Given the description of an element on the screen output the (x, y) to click on. 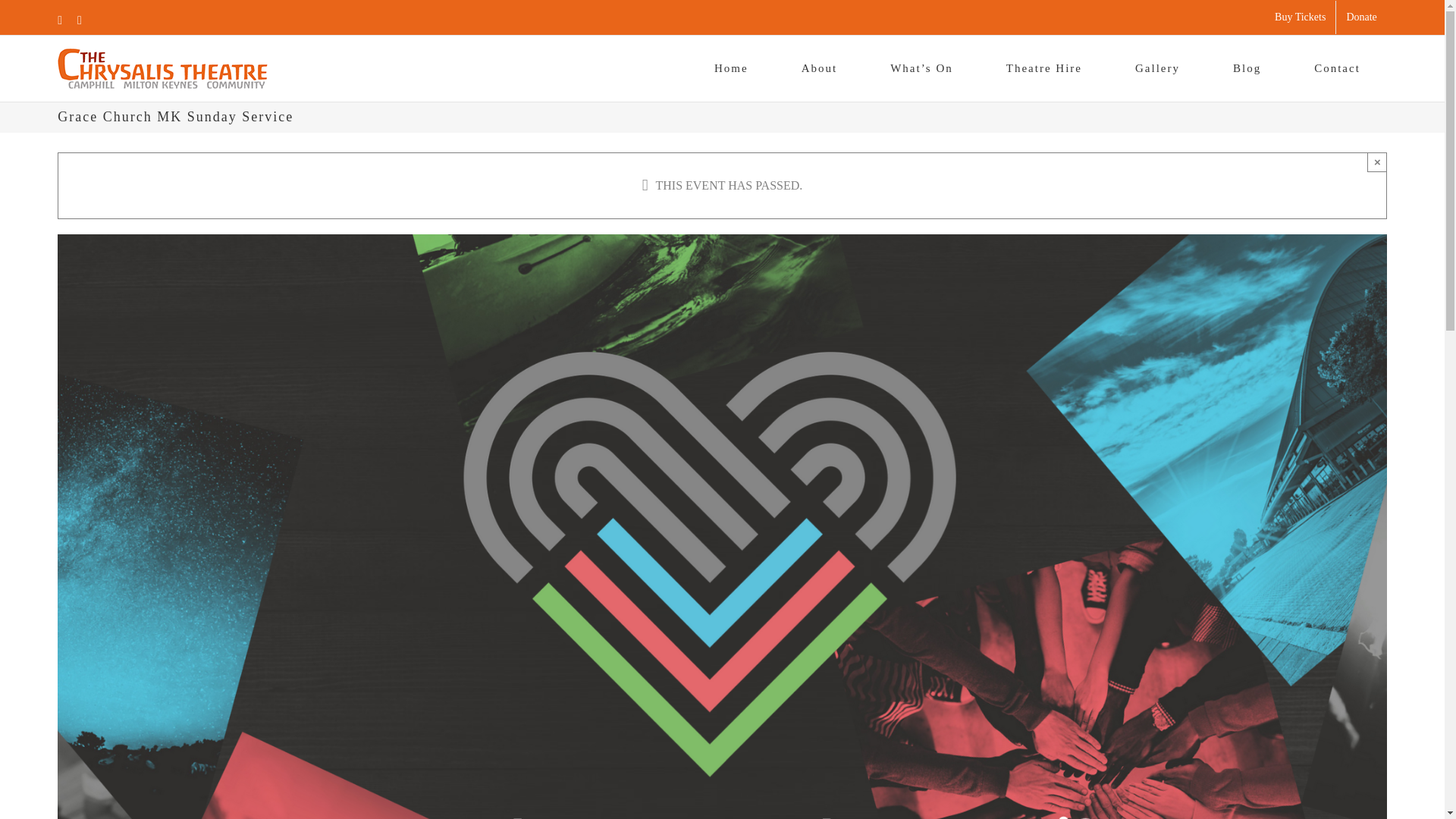
Home (730, 68)
Contact (1337, 68)
X (79, 20)
Facebook (60, 20)
Buy Tickets (1300, 17)
About (819, 68)
Blog (1247, 68)
Donate (1361, 17)
Gallery (1157, 68)
Theatre Hire (1043, 68)
